Given the description of an element on the screen output the (x, y) to click on. 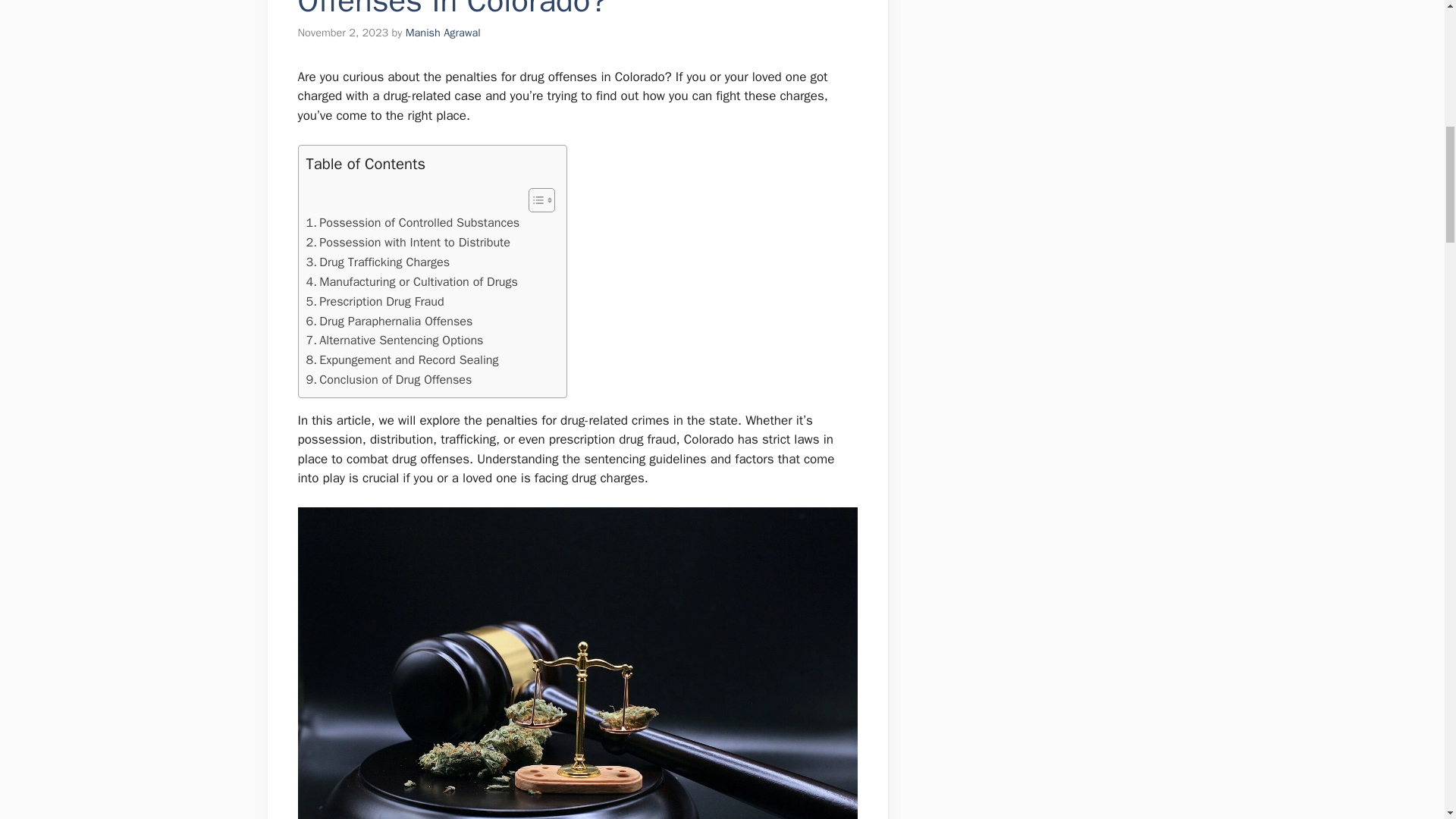
Drug Paraphernalia Offenses (389, 321)
Expungement and Record Sealing (402, 360)
Possession with Intent to Distribute (408, 242)
Drug Trafficking Charges (377, 261)
Prescription Drug Fraud (374, 301)
View all posts by Manish Agrawal (443, 32)
Drug Trafficking Charges (377, 261)
Manufacturing or Cultivation of Drugs (411, 281)
Alternative Sentencing Options (394, 340)
Possession of Controlled Substances (412, 222)
Prescription Drug Fraud (374, 301)
Possession with Intent to Distribute (408, 242)
Conclusion of Drug Offenses (388, 379)
Drug Paraphernalia Offenses (389, 321)
Manufacturing or Cultivation of Drugs (411, 281)
